Given the description of an element on the screen output the (x, y) to click on. 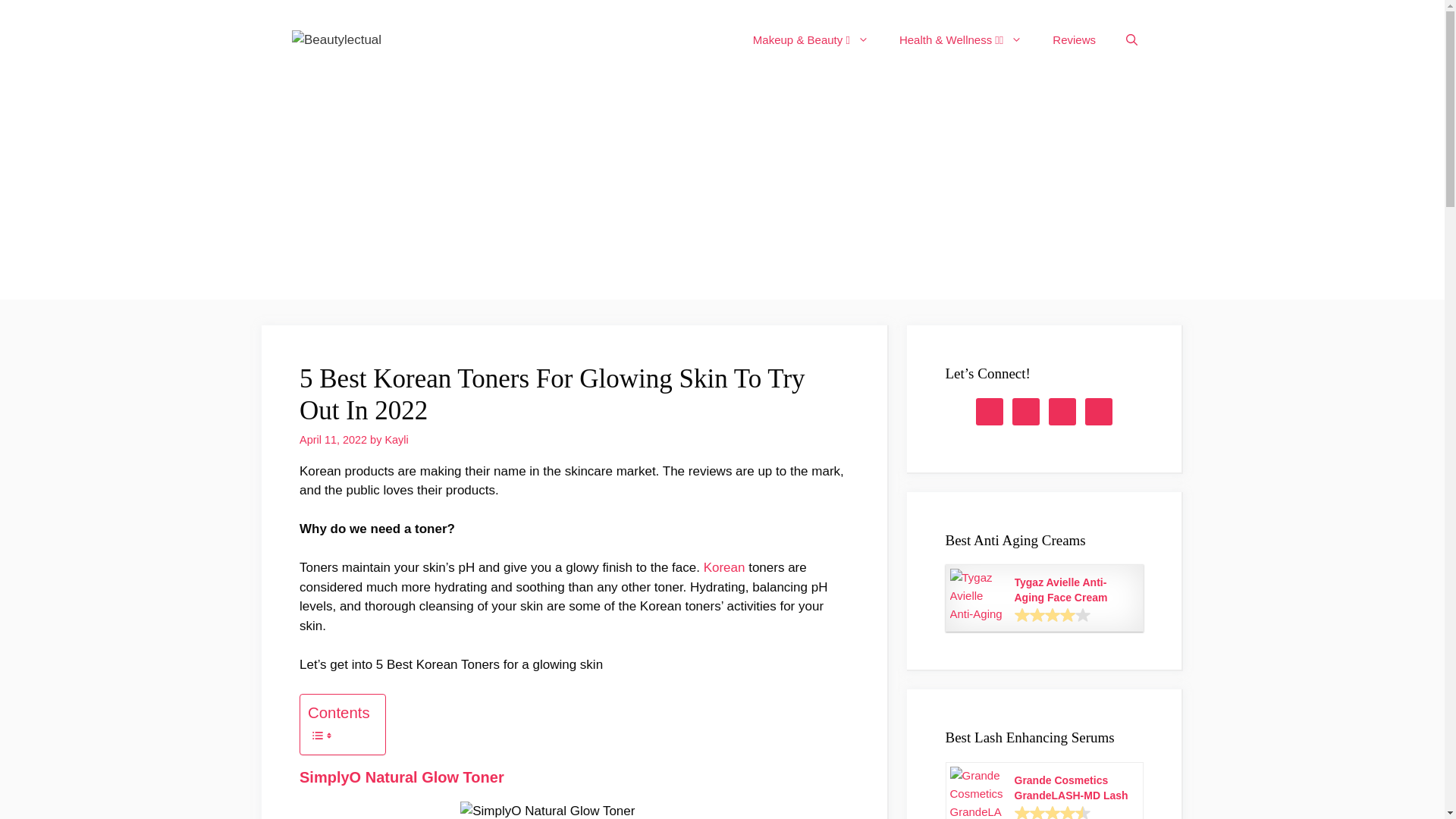
View all posts by Kayli (395, 439)
Tygaz Avielle Anti-Aging Face Cream (1073, 589)
Grande Cosmetics GrandeLASH-MD Lash Enhancing... (1073, 787)
SimplyO Natural Glow Toner (401, 777)
Reviews (1073, 39)
Reviews on Amazon (1052, 812)
Tygaz Avielle Anti-Aging Face Cream (1073, 589)
Reviews on Amazon (1052, 614)
Kayli (395, 439)
Korean (724, 567)
